Given the description of an element on the screen output the (x, y) to click on. 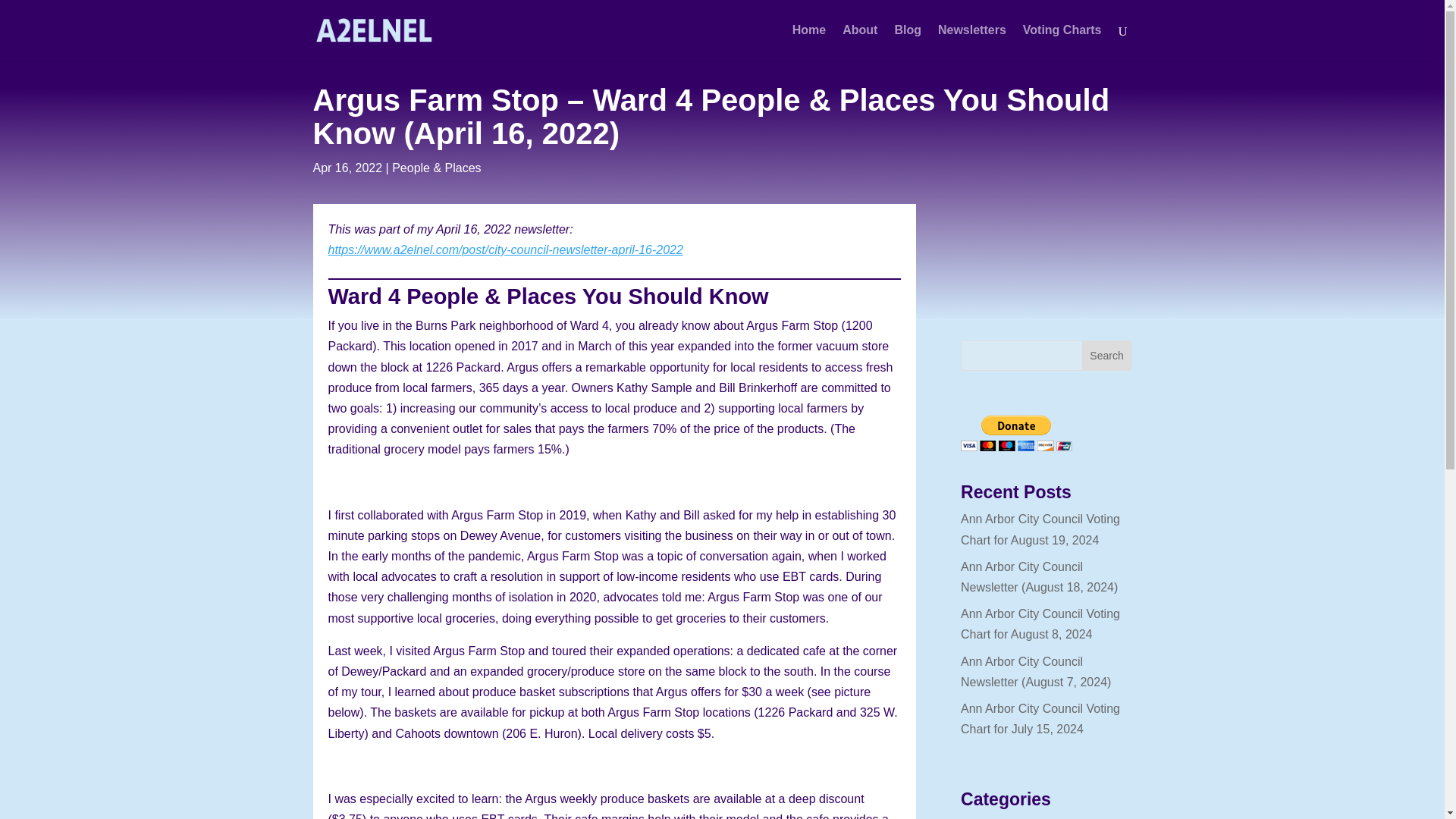
Newsletters (971, 42)
Ann Arbor City Council Voting Chart for July 15, 2024 (1039, 718)
Ann Arbor City Council Voting Chart for August 8, 2024 (1039, 623)
Search (1106, 355)
Home (808, 42)
PayPal - The safer, easier way to pay online! (1015, 433)
Voting Charts (1062, 42)
Ann Arbor City Council Voting Chart for August 19, 2024 (1039, 529)
About (860, 42)
